Given the description of an element on the screen output the (x, y) to click on. 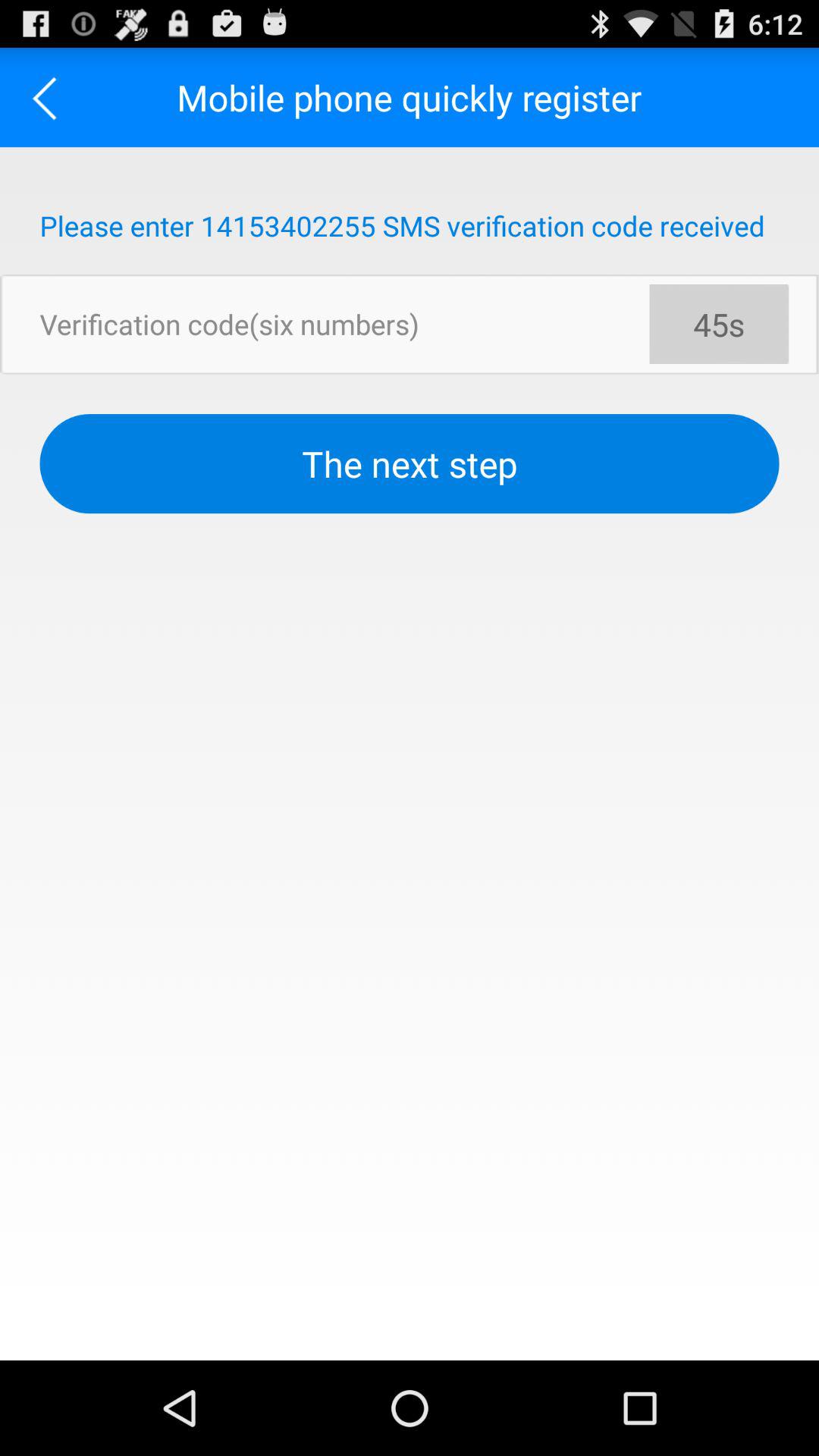
turn off the app to the left of the mobile phone quickly app (49, 97)
